Given the description of an element on the screen output the (x, y) to click on. 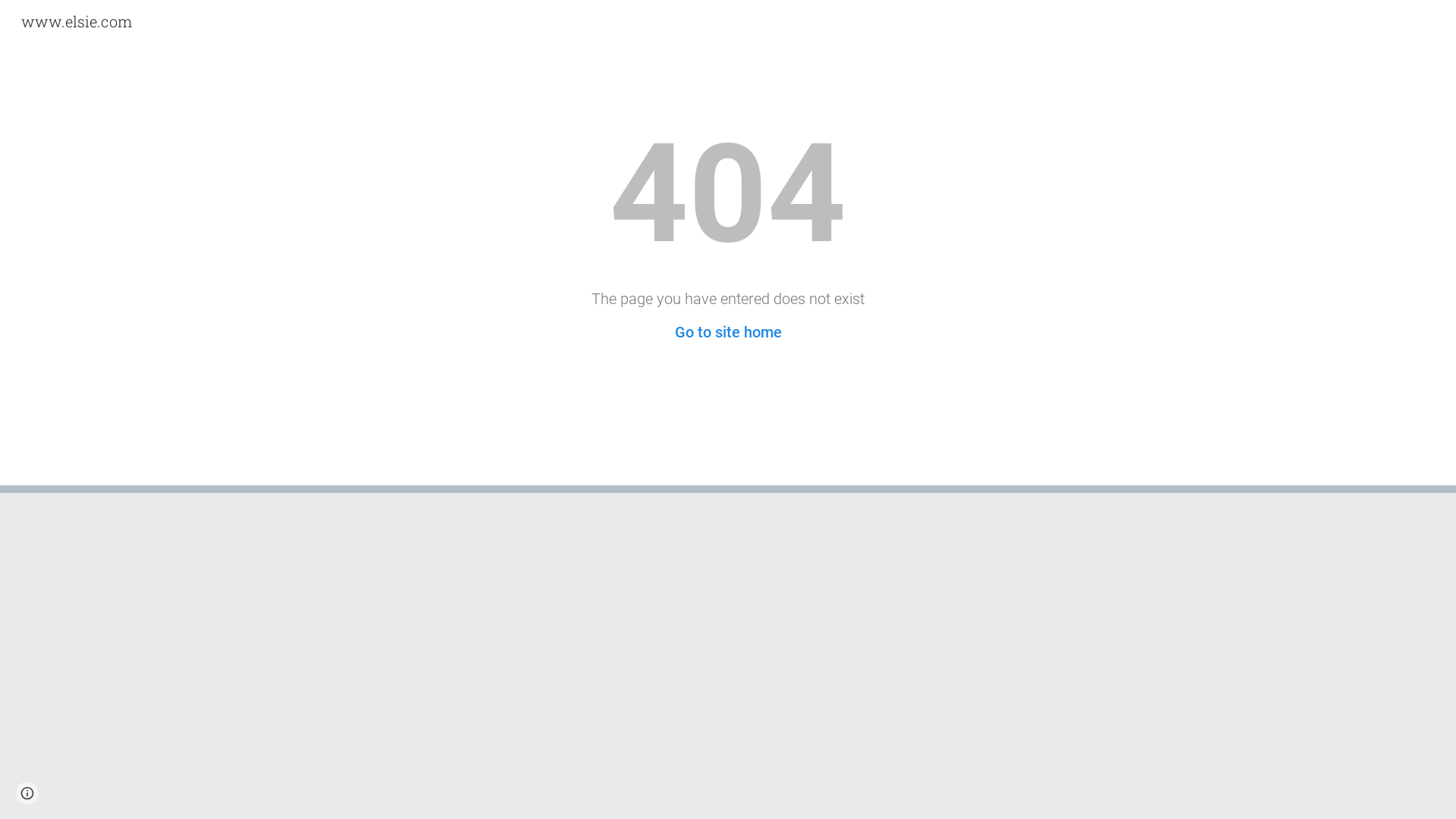
www.elsie.com Element type: text (76, 18)
Go to site home Element type: text (727, 332)
